Given the description of an element on the screen output the (x, y) to click on. 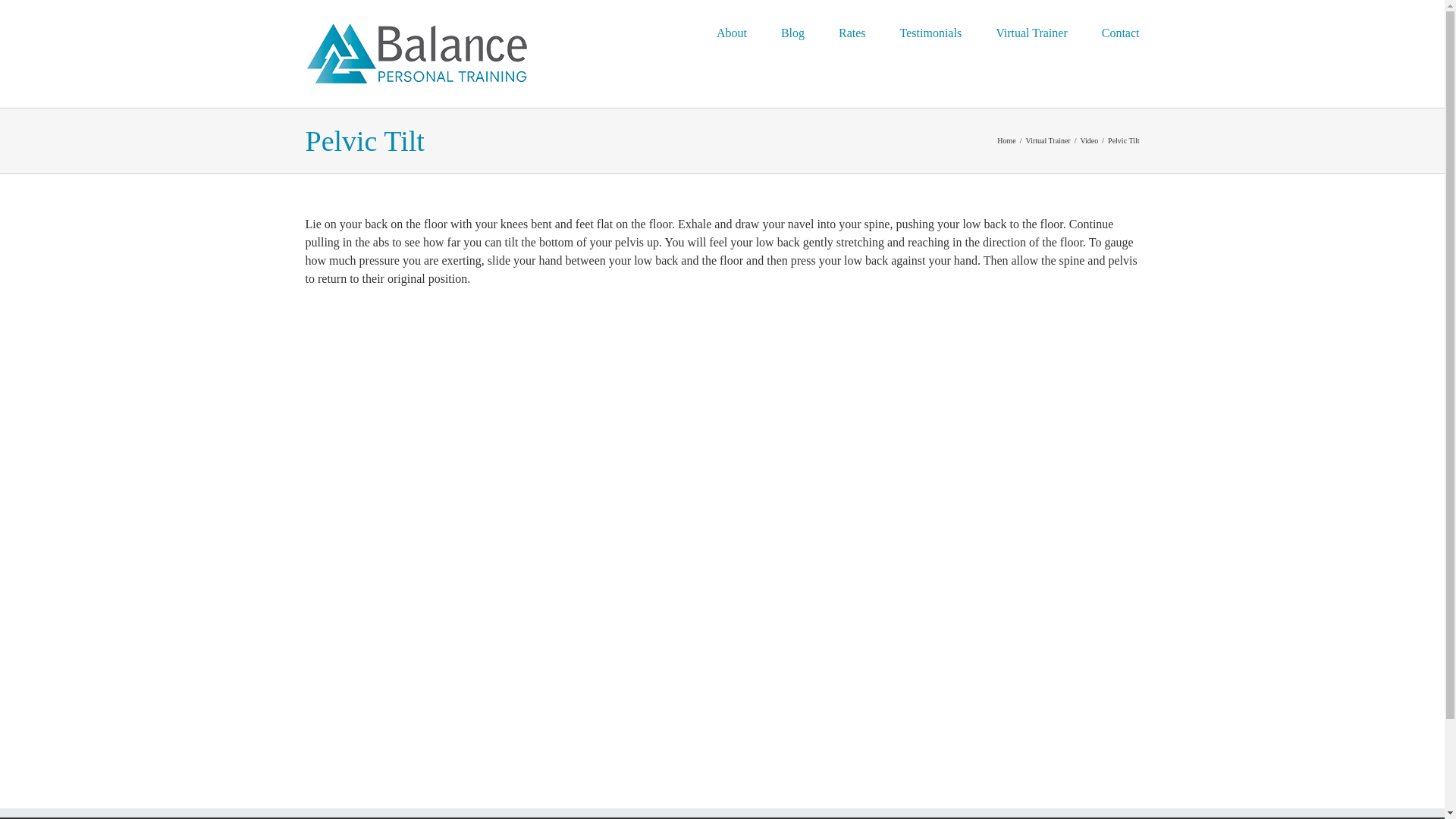
Virtual Trainer (1048, 140)
Virtual Trainer (1031, 31)
Video (1088, 140)
Home (1005, 140)
Testimonials (930, 31)
